Given the description of an element on the screen output the (x, y) to click on. 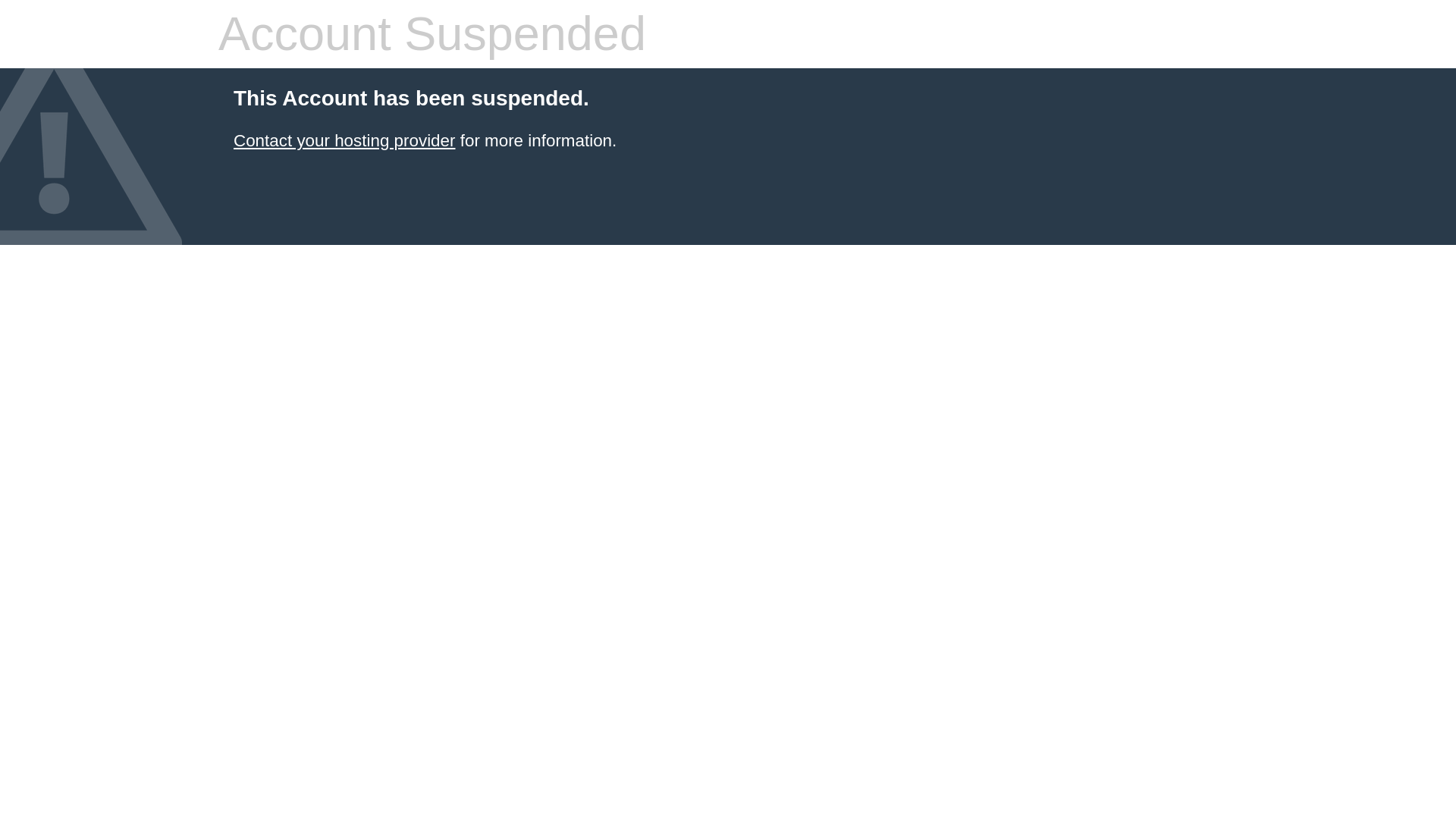
Contact your hosting provider (343, 140)
